Given the description of an element on the screen output the (x, y) to click on. 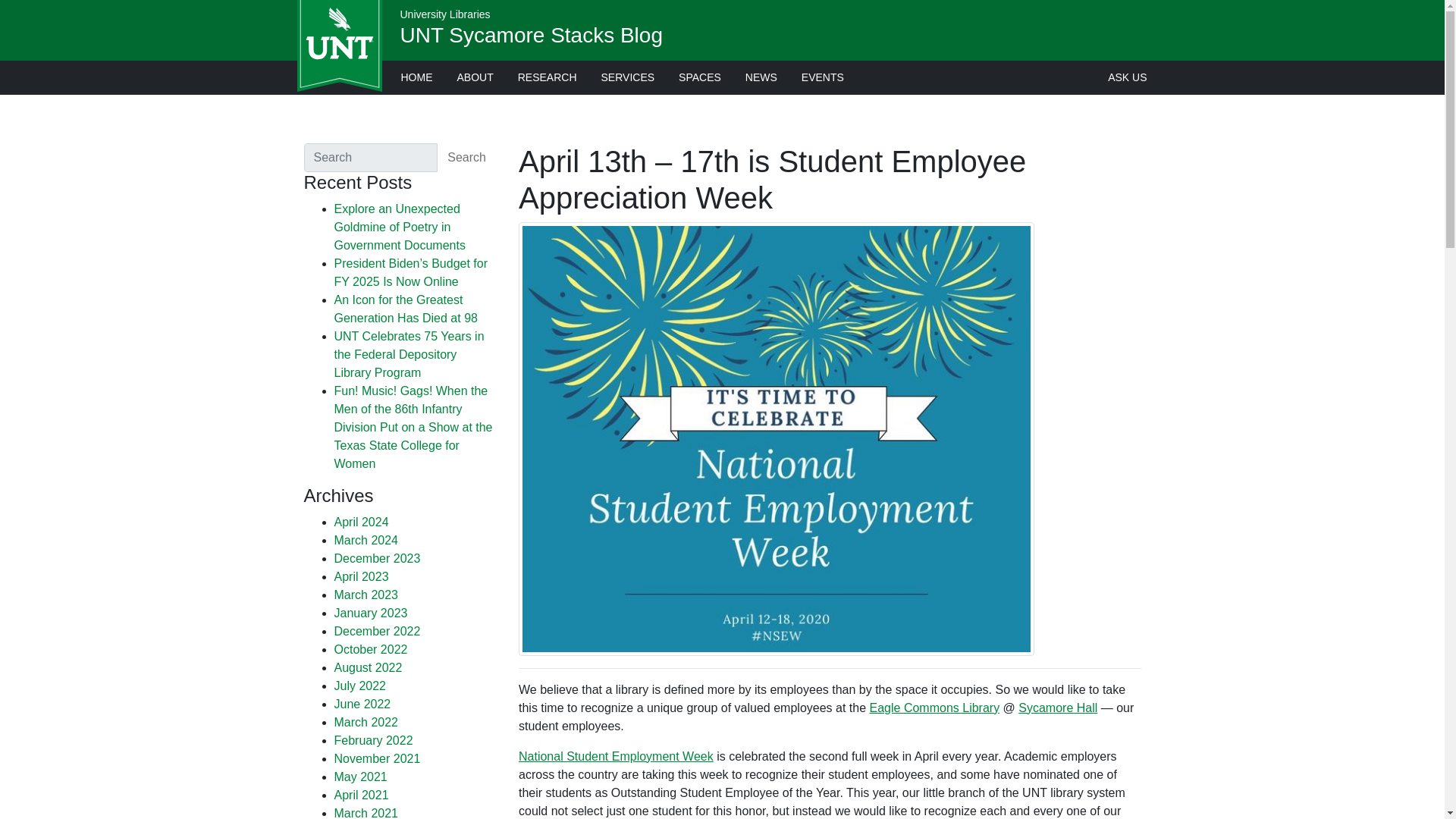
HOME (416, 77)
ASK US (1127, 77)
March 2023 (365, 594)
Sycamore Hall (1057, 707)
An Icon for the Greatest Generation Has Died at 98 (405, 308)
April 2024 (360, 521)
EVENTS (822, 77)
SERVICES (627, 77)
SPACES (699, 77)
University Libraries (445, 14)
Eagle Commons Library (934, 707)
December 2023 (376, 558)
January 2023 (370, 612)
